Given the description of an element on the screen output the (x, y) to click on. 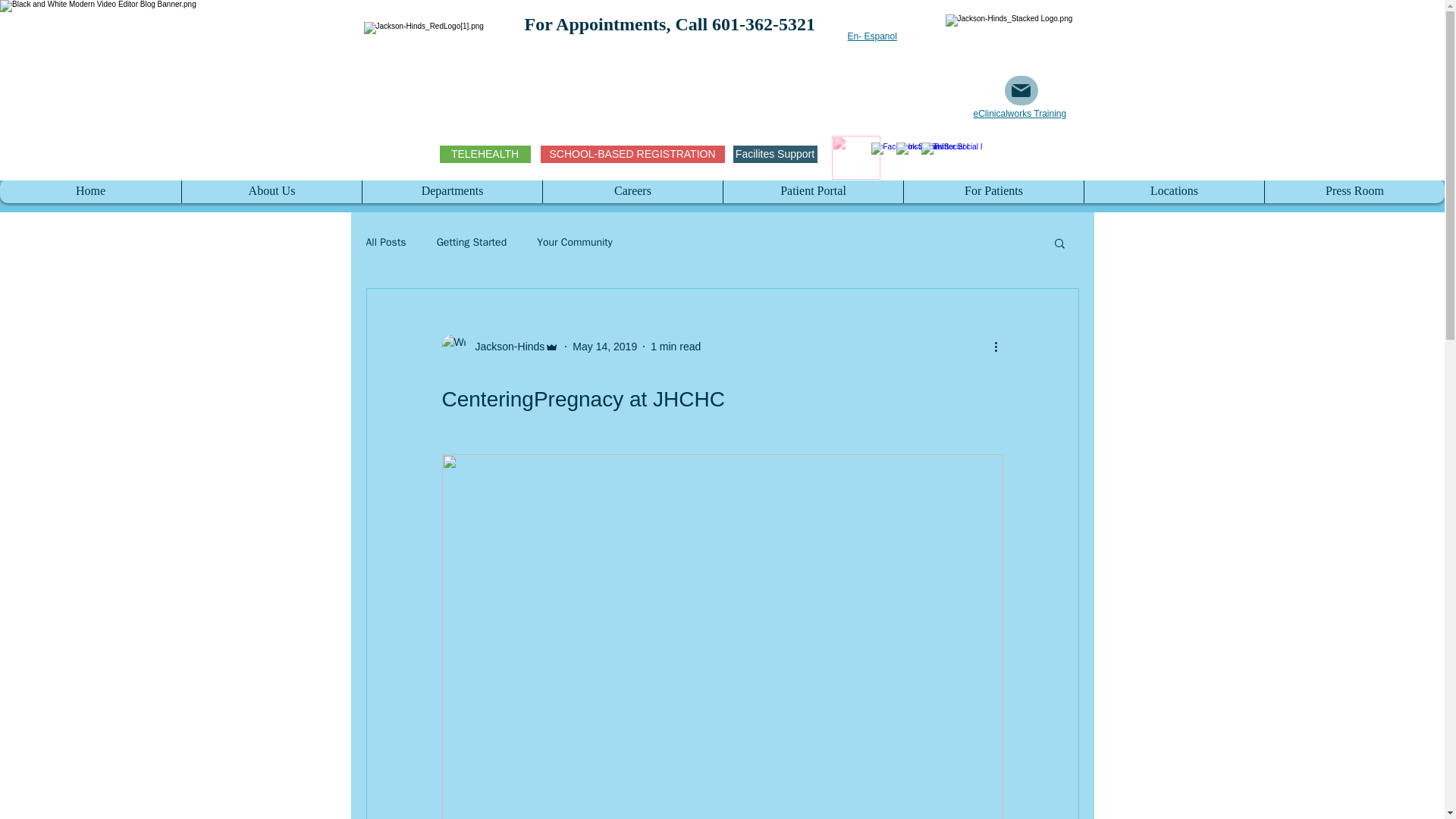
For Patients (992, 191)
En- Espanol (871, 36)
Jackson-Hinds (500, 346)
Your Community (574, 242)
May 14, 2019 (604, 345)
Careers (631, 191)
eClinicalworks Training (1020, 113)
Getting Started (471, 242)
Locations (1173, 191)
Home (90, 191)
